Given the description of an element on the screen output the (x, y) to click on. 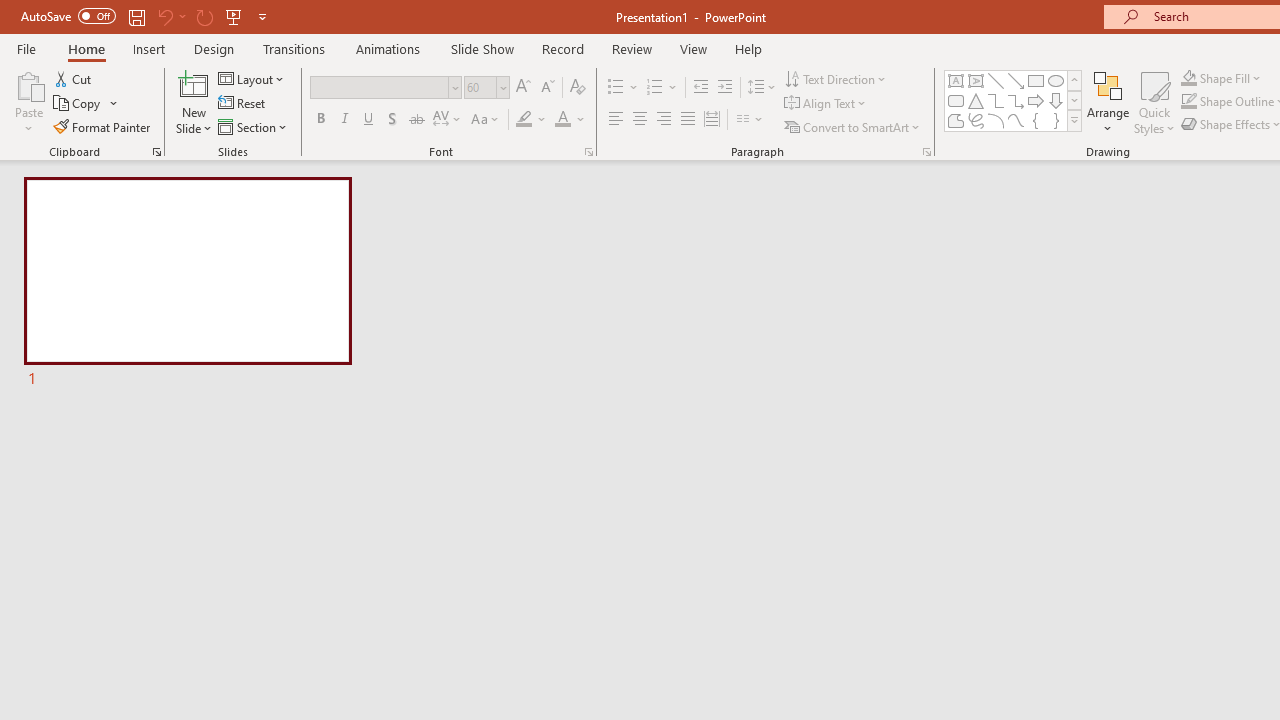
Text Highlight Color Yellow (524, 119)
Arc (995, 120)
Font Size (480, 87)
Row up (1074, 79)
Columns (750, 119)
Isosceles Triangle (975, 100)
Row Down (1074, 100)
Shadow (392, 119)
Design (214, 48)
Numbering (661, 87)
Increase Indent (725, 87)
Italic (344, 119)
Redo (204, 15)
Line Spacing (762, 87)
Class: NetUIImage (1075, 120)
